Given the description of an element on the screen output the (x, y) to click on. 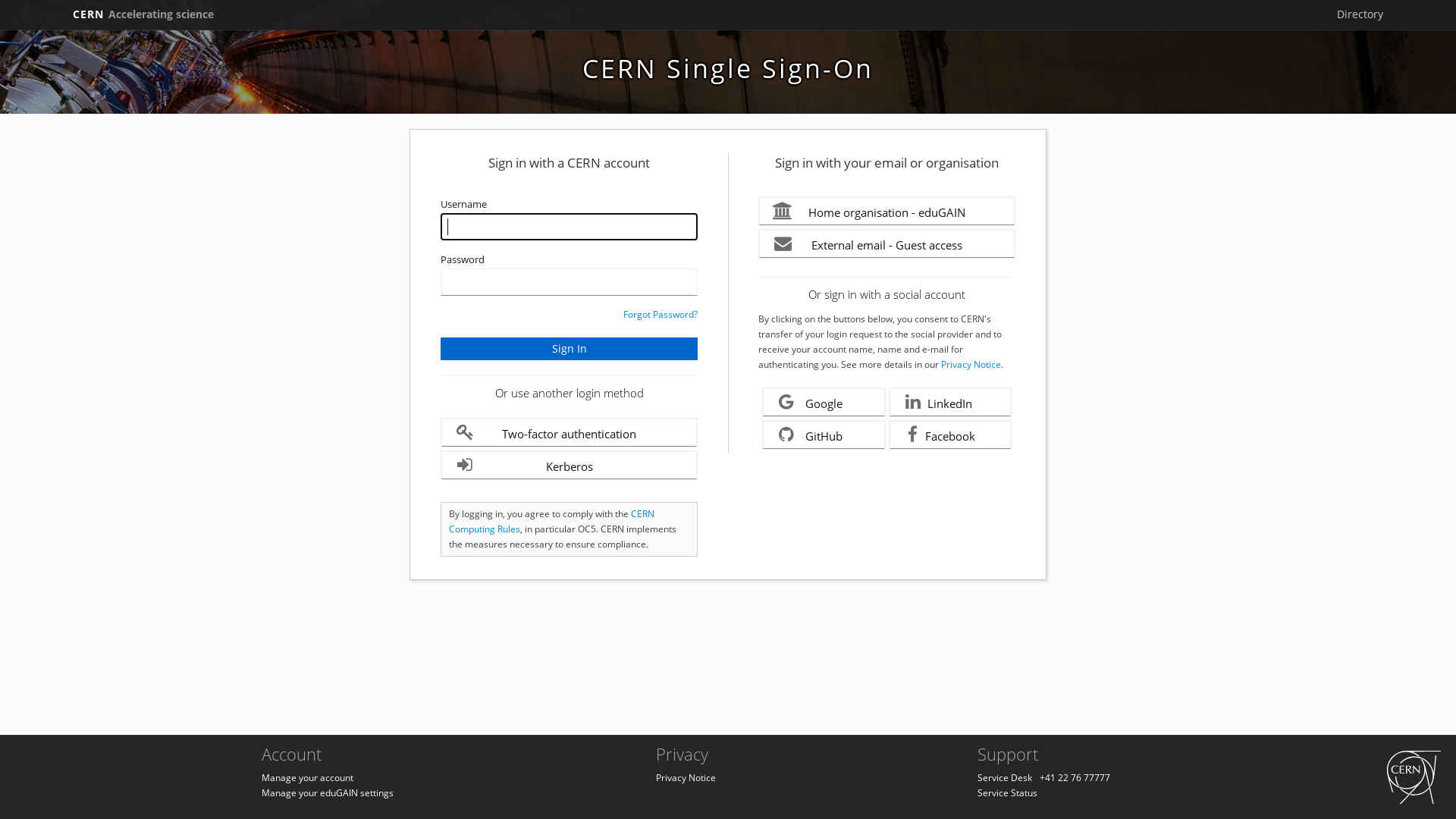
Manage your eduGAIN settings Element type: text (327, 792)
Directory Element type: text (1359, 14)
Forgot Password? Element type: text (660, 313)
CERN Computing Rules Element type: text (551, 521)
Privacy Notice Element type: text (971, 363)
Facebook Element type: text (950, 434)
External email - Guest access Element type: text (886, 243)
Service Desk Element type: text (1004, 777)
Privacy Notice Element type: text (685, 777)
Kerberos Element type: text (568, 465)
Service Status Element type: text (1007, 792)
Home organisation - eduGAIN Element type: text (886, 210)
+41 22 76 77777 Element type: text (1074, 777)
Two-factor authentication Element type: text (568, 432)
Google Element type: text (823, 402)
CERN Accelerating science Element type: text (142, 14)
Sign In Element type: text (568, 348)
LinkedIn Element type: text (950, 402)
GitHub Element type: text (823, 434)
Manage your account Element type: text (307, 777)
